Given the description of an element on the screen output the (x, y) to click on. 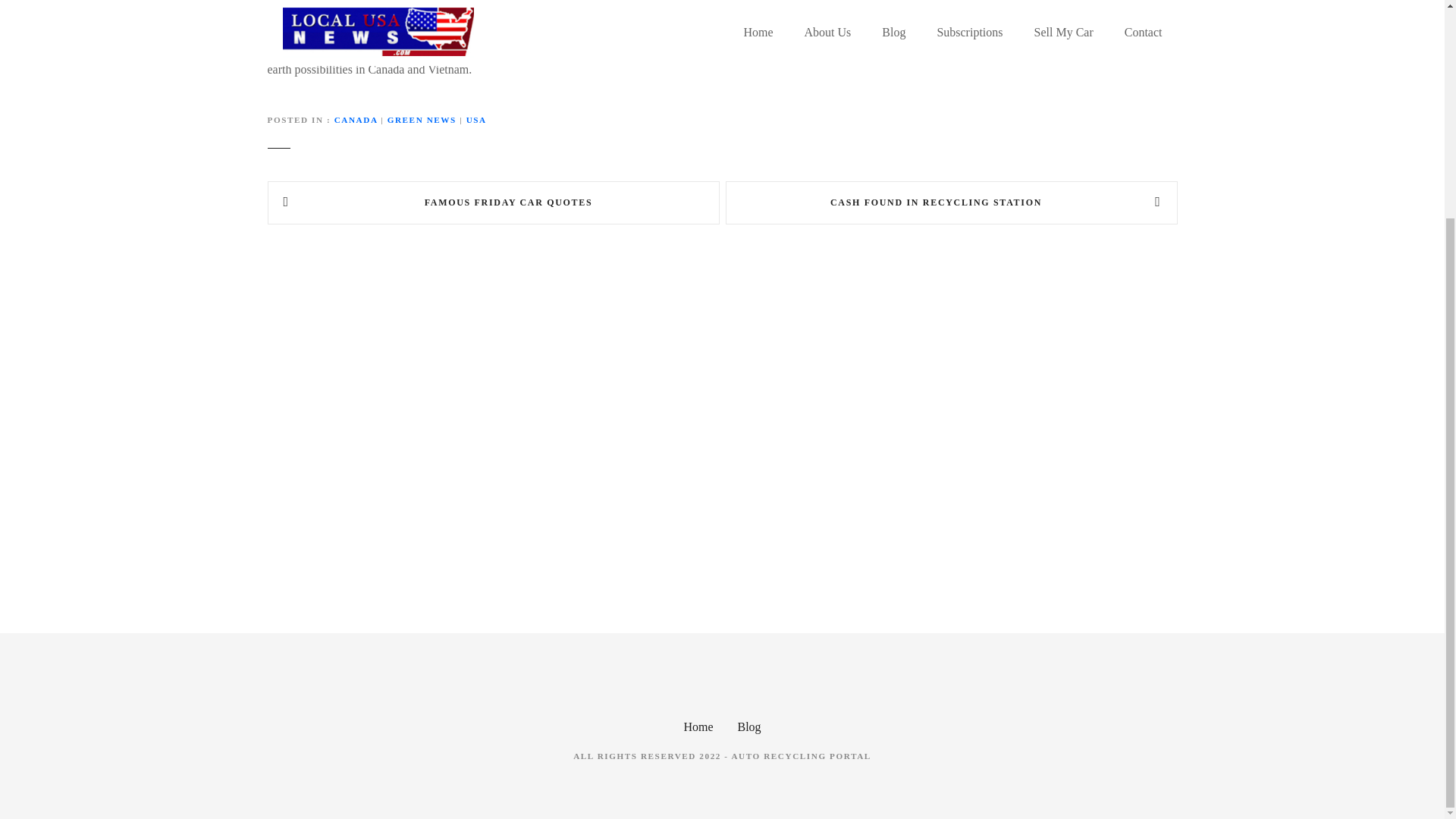
Blog (748, 726)
Home (697, 726)
CASH FOUND IN RECYCLING STATION (950, 202)
FAMOUS FRIDAY CAR QUOTES (492, 202)
USA (475, 119)
CANADA (355, 119)
GREEN NEWS (422, 119)
